Given the description of an element on the screen output the (x, y) to click on. 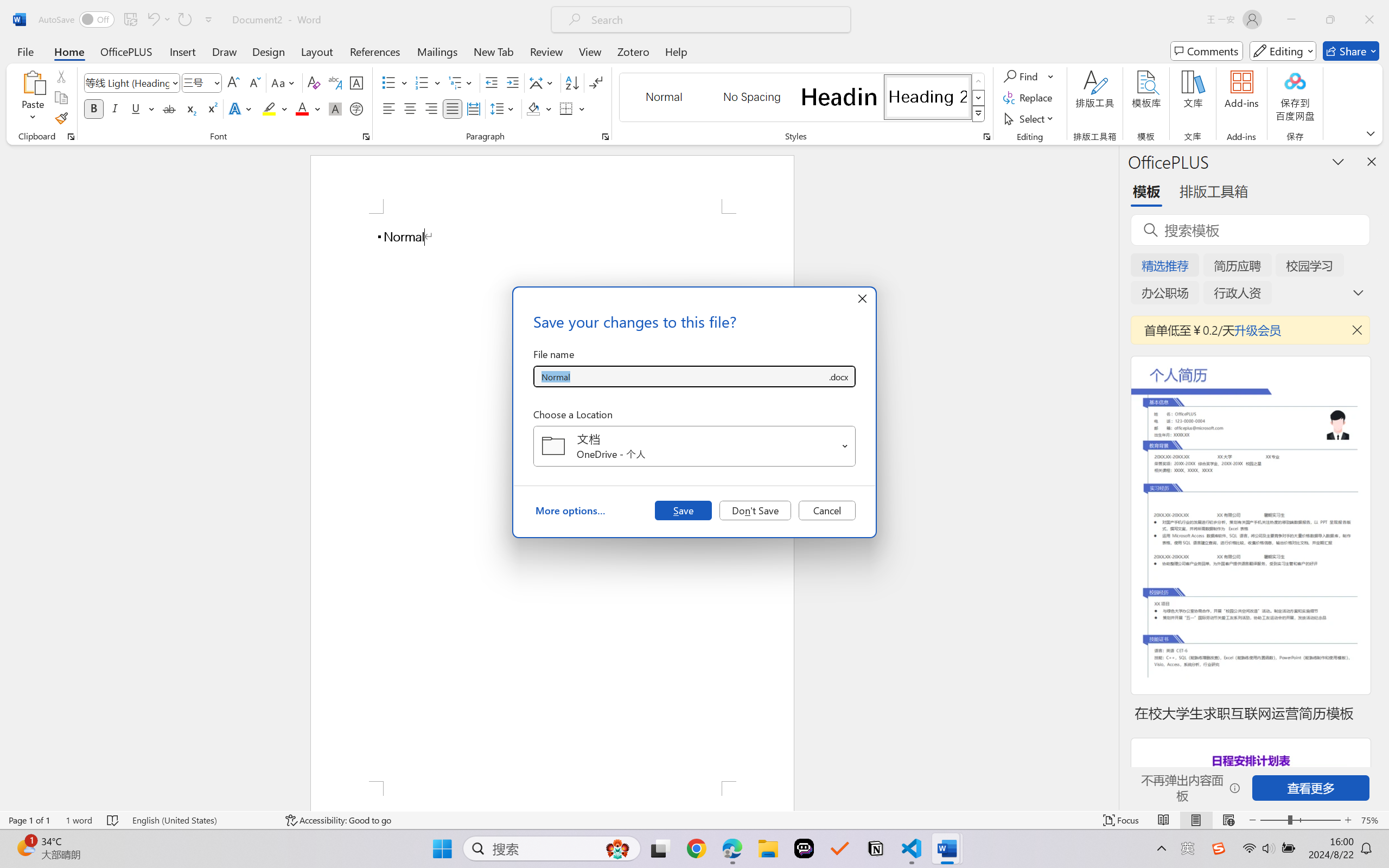
Zotero (632, 51)
Font (126, 82)
Strikethrough (169, 108)
Bullets (388, 82)
AutomationID: DynamicSearchBoxGleamImage (617, 848)
Zoom Out (1273, 819)
Language English (United States) (201, 819)
Heading 1 (839, 96)
Underline (142, 108)
